Given the description of an element on the screen output the (x, y) to click on. 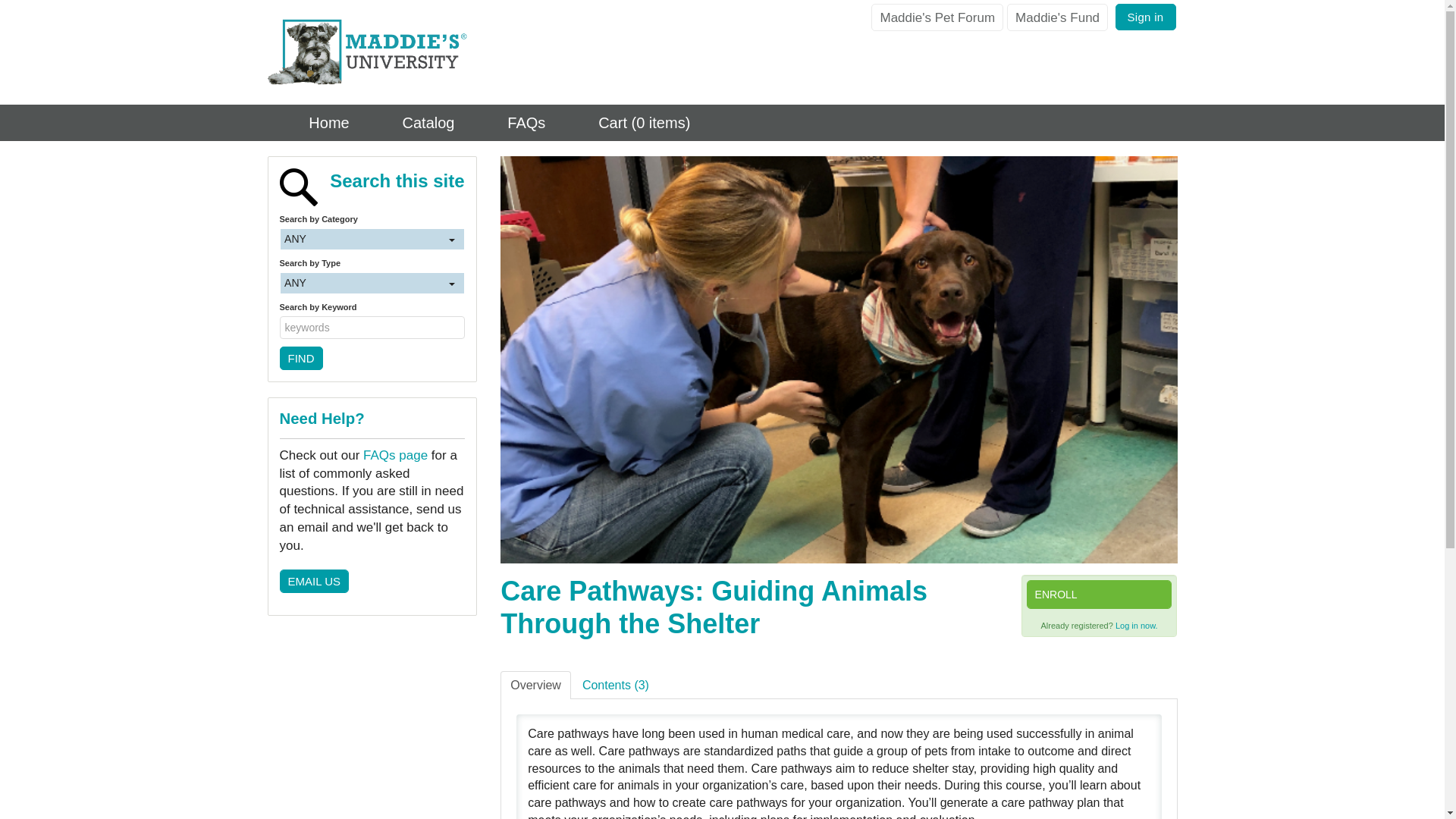
Find (300, 358)
Log in now. (1136, 624)
Any (371, 239)
FAQs (510, 122)
Sign in (1144, 17)
Catalog (413, 122)
Overview (535, 684)
Maddie's Fund (1057, 17)
Home (312, 122)
ANY (371, 239)
ENROLL (1099, 594)
Maddie's Pet Forum (936, 17)
Any (371, 282)
